Given the description of an element on the screen output the (x, y) to click on. 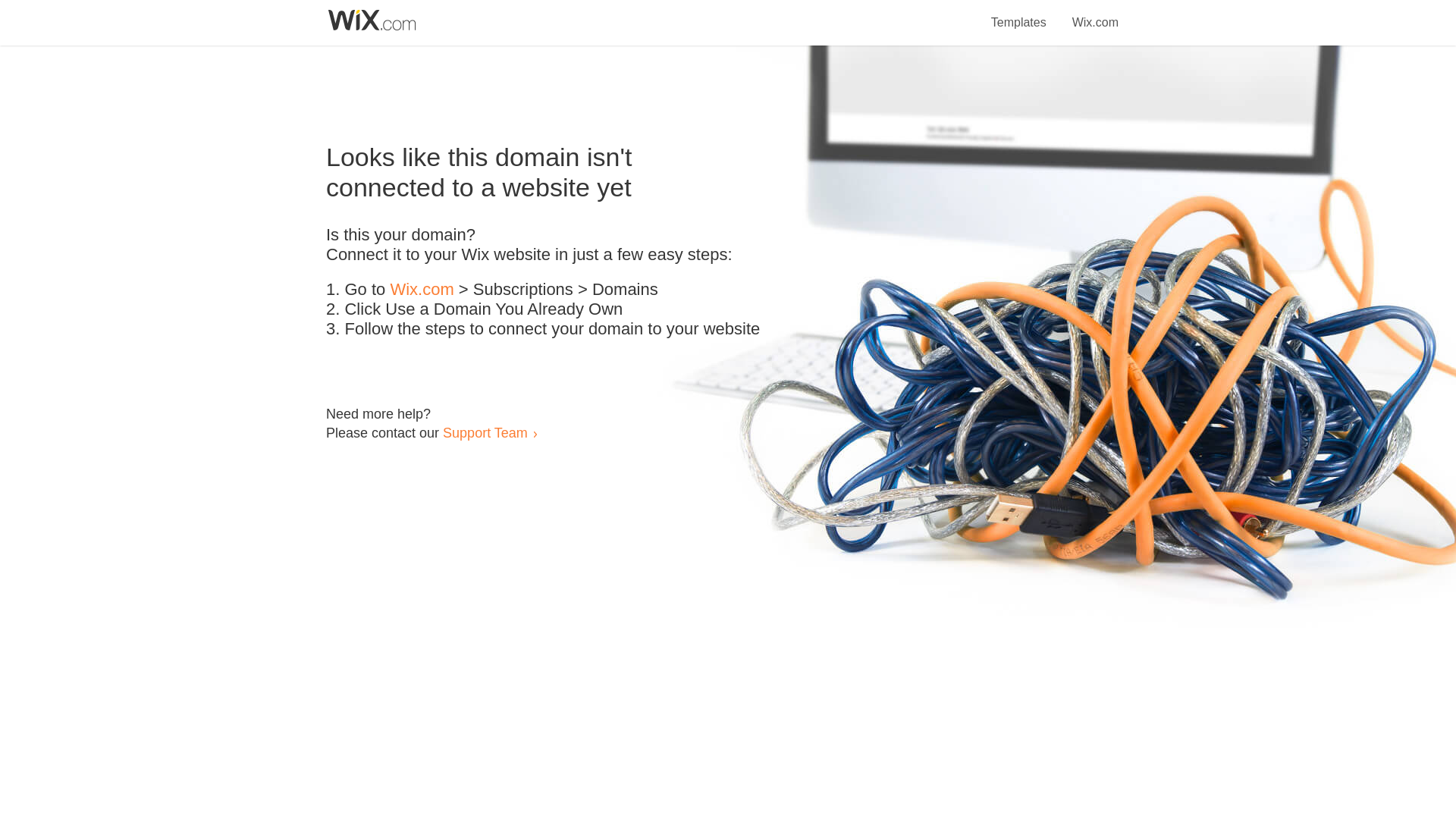
Wix.com (1095, 14)
Templates (1018, 14)
Support Team (484, 432)
Wix.com (421, 289)
